Given the description of an element on the screen output the (x, y) to click on. 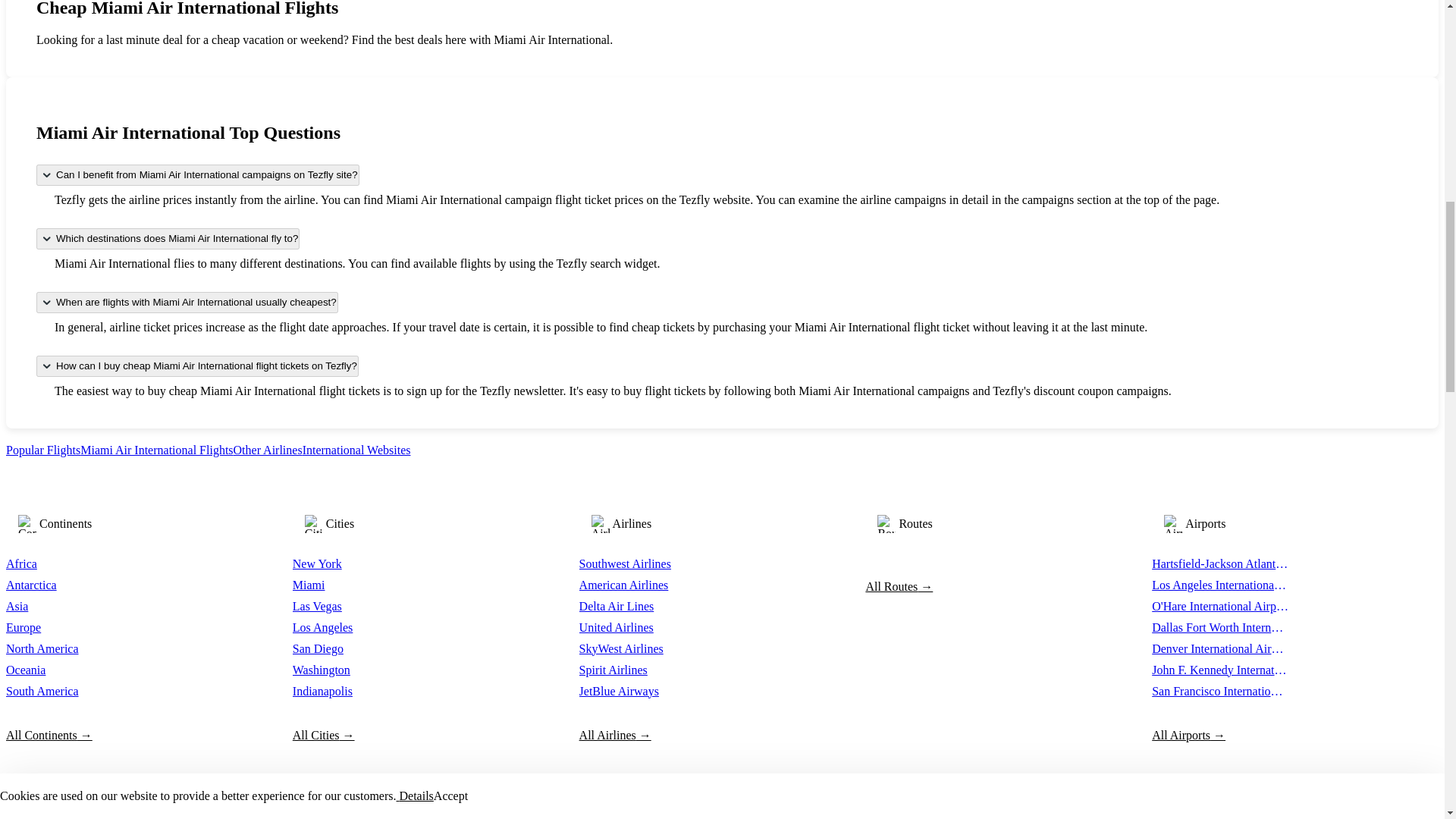
New York (360, 563)
North America (73, 649)
Indianapolis (360, 691)
South America (73, 691)
Antarctica (73, 585)
Miami Air International Flights (156, 449)
Washington (360, 670)
Africa (73, 563)
Which destinations does Miami Air International fly to? (167, 238)
Miami (360, 585)
Europe (73, 627)
SkyWest Airlines (647, 649)
